Given the description of an element on the screen output the (x, y) to click on. 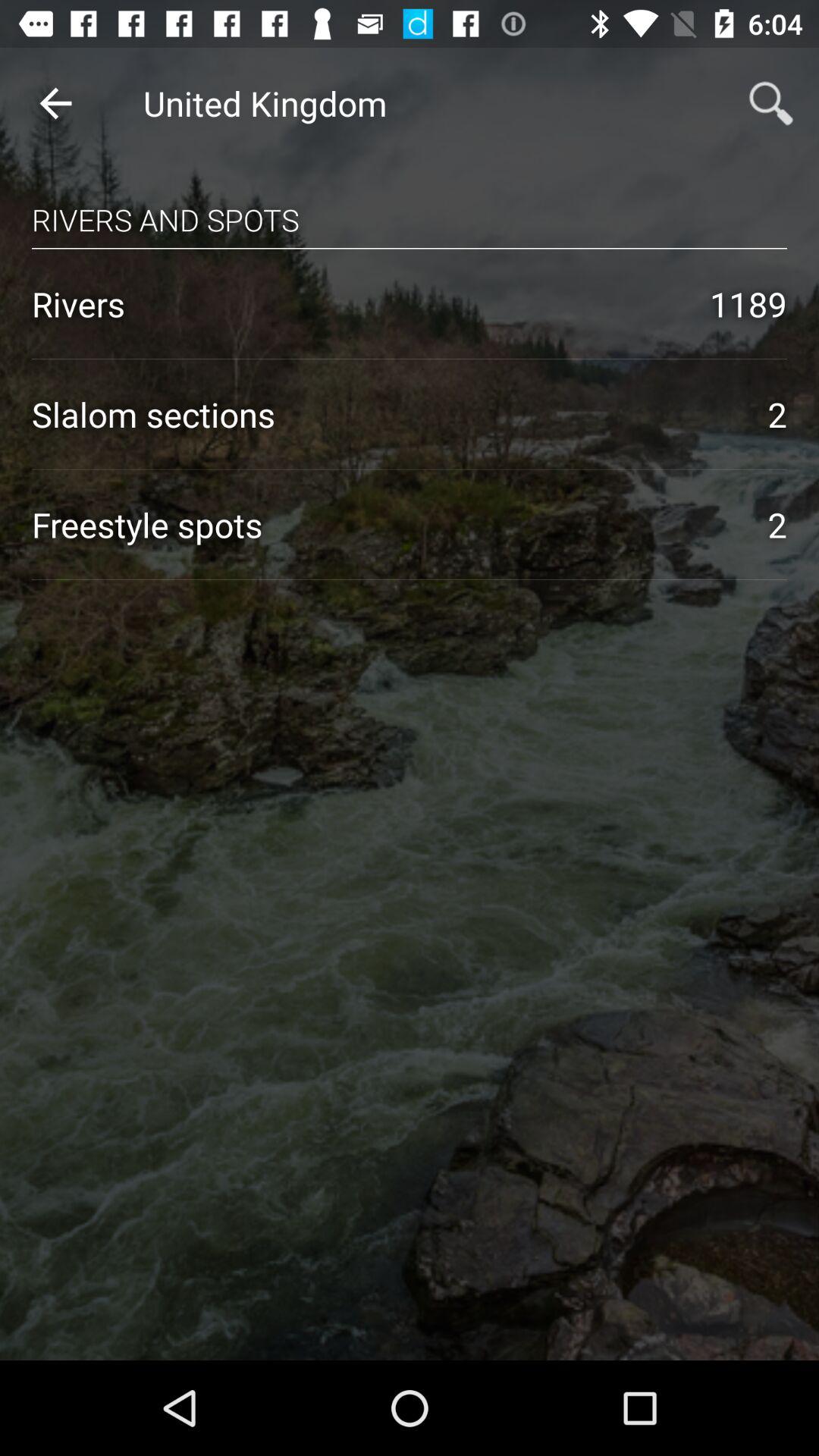
turn off the icon above 1189 (409, 248)
